Given the description of an element on the screen output the (x, y) to click on. 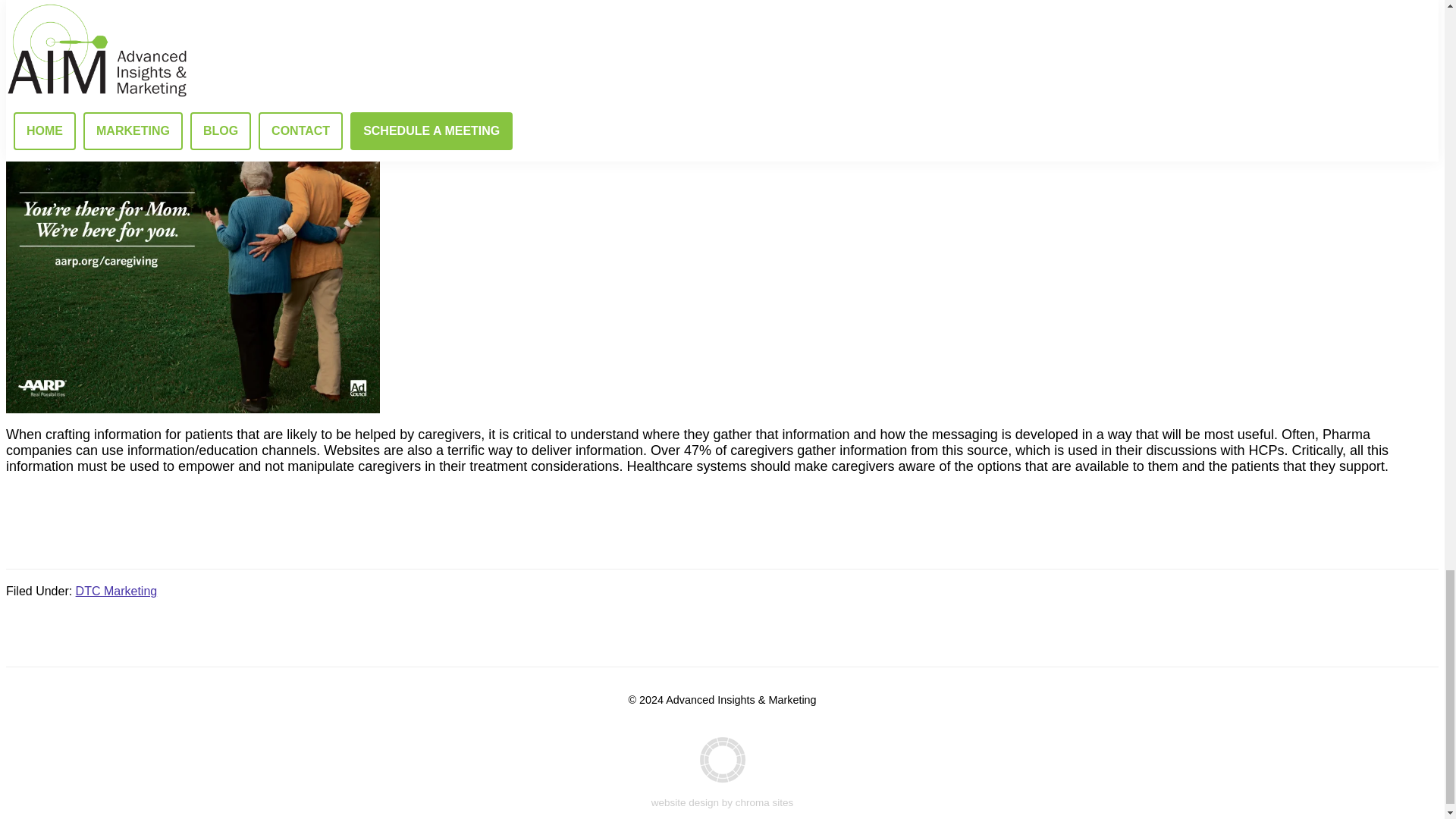
website design by chroma sites (721, 772)
DTC Marketing (116, 590)
Click here to learn more about the web designer! (721, 772)
